Given the description of an element on the screen output the (x, y) to click on. 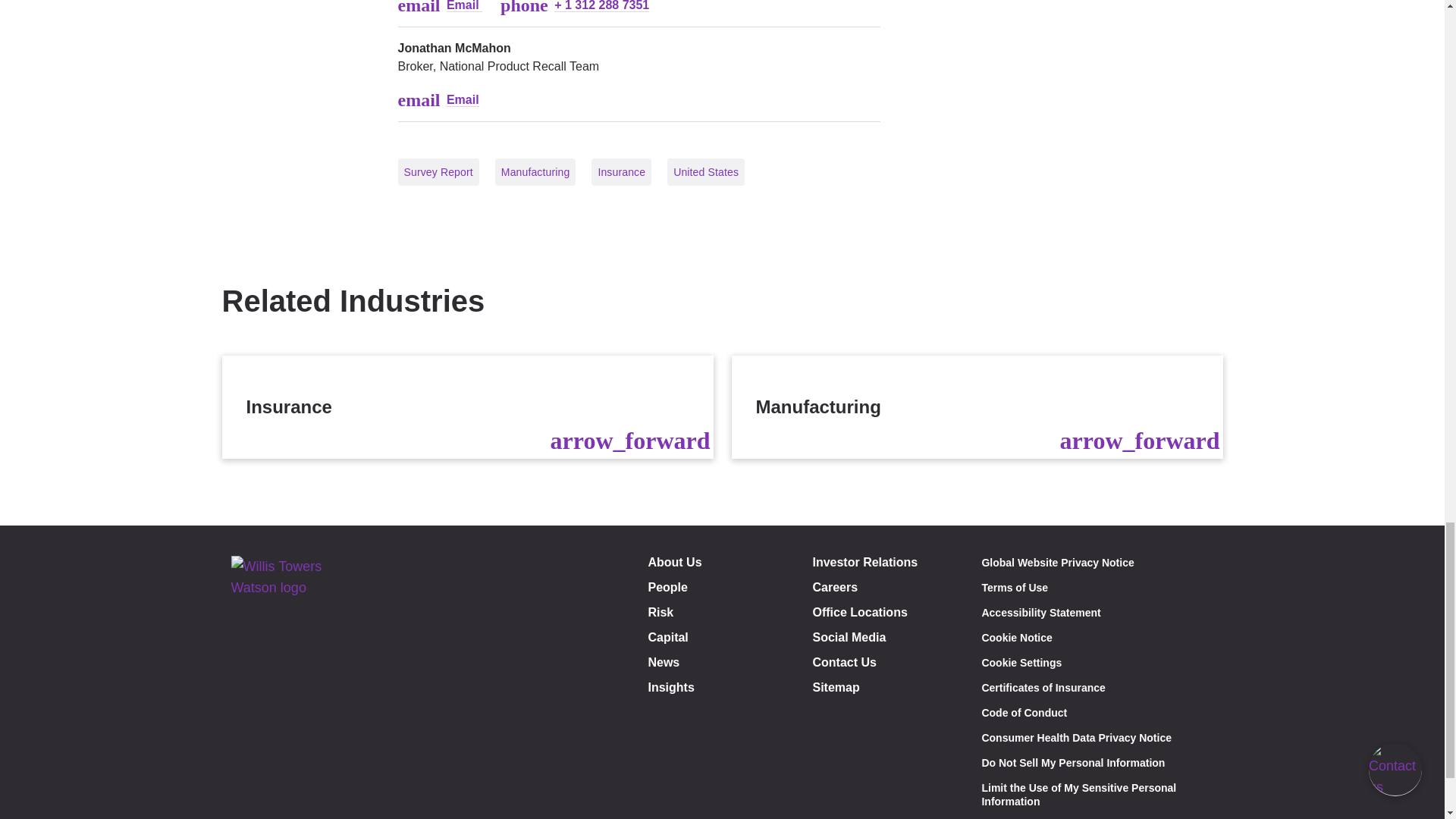
Linkedin (287, 817)
Facebook (252, 817)
Insurance (467, 406)
Instagram (320, 817)
Manufacturing (976, 406)
